Given the description of an element on the screen output the (x, y) to click on. 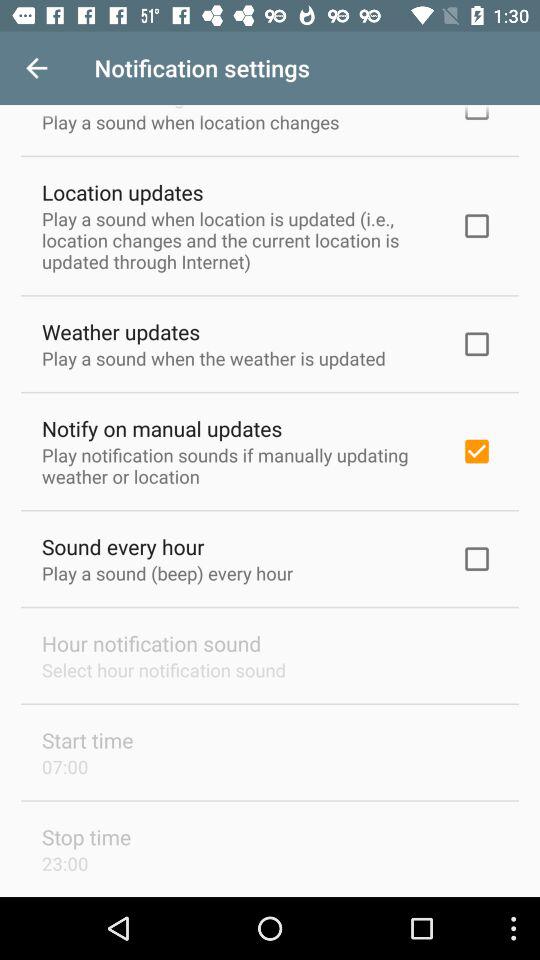
swipe to play notification sounds item (238, 465)
